Given the description of an element on the screen output the (x, y) to click on. 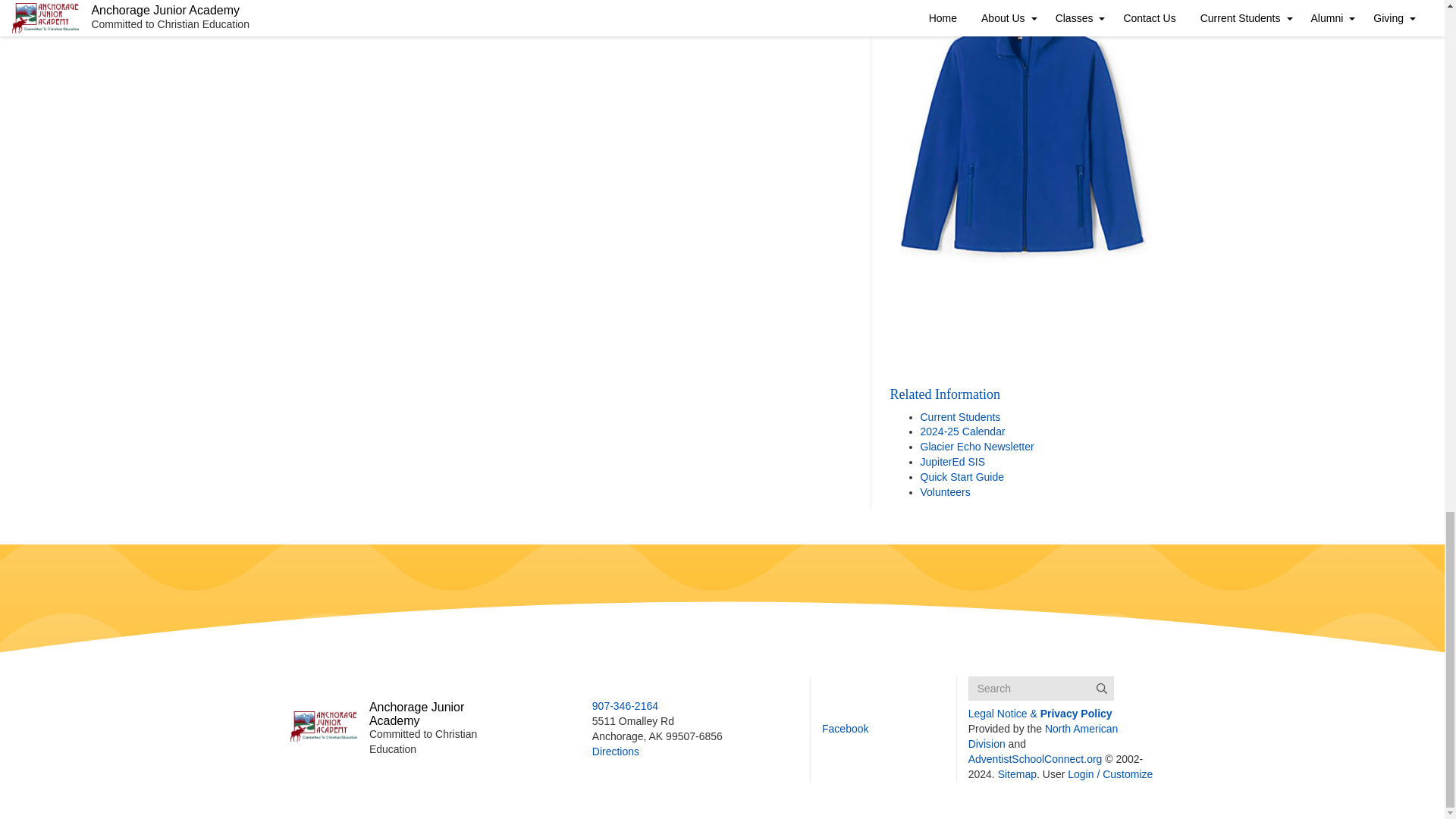
2024-25 Calendar (963, 431)
Current Students (960, 416)
Glacier Echo Newsletter (976, 446)
JupiterEd SIS (952, 461)
